Given the description of an element on the screen output the (x, y) to click on. 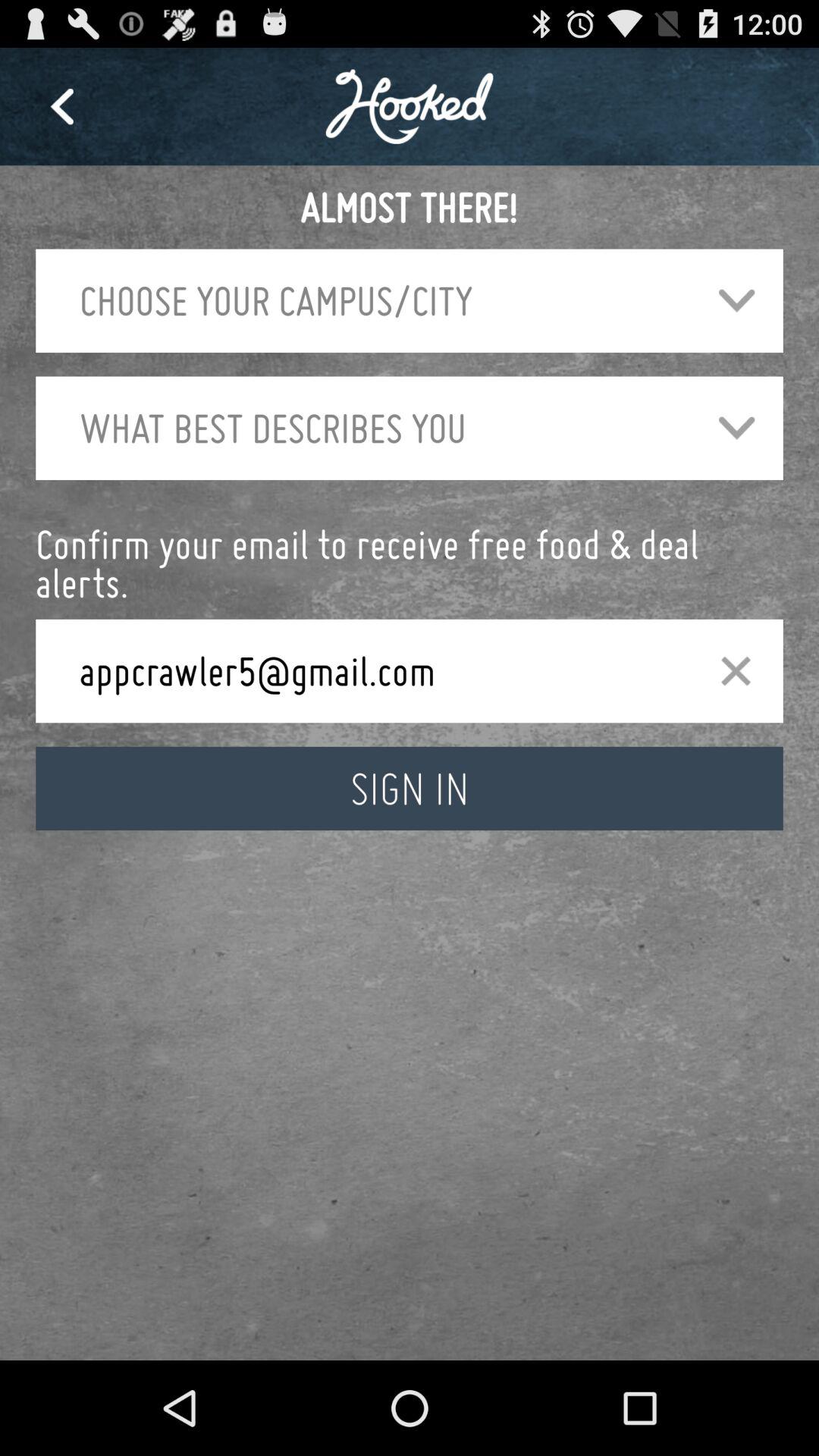
scroll until the sign in item (409, 788)
